Given the description of an element on the screen output the (x, y) to click on. 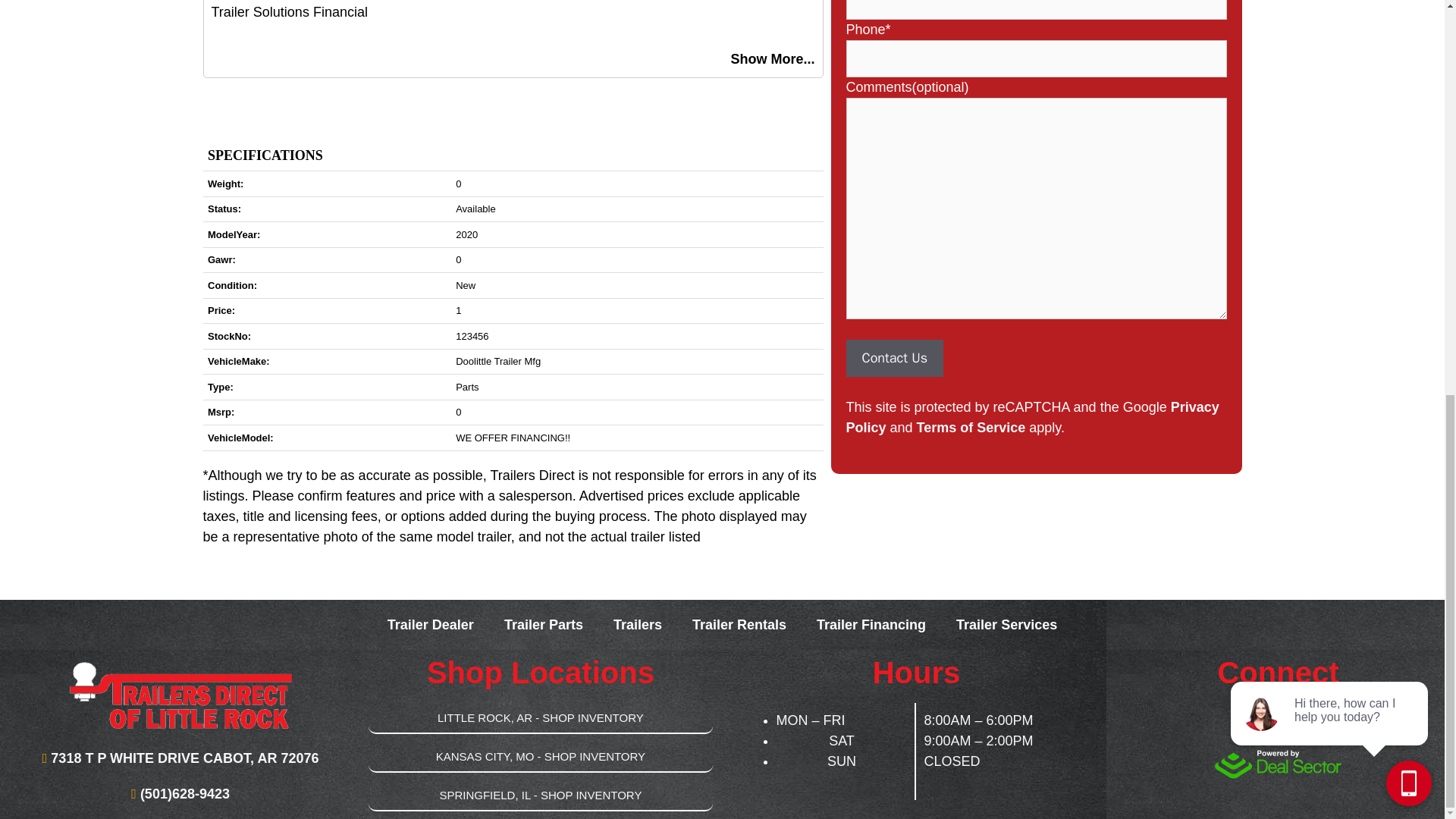
Contact Us (894, 357)
